Given the description of an element on the screen output the (x, y) to click on. 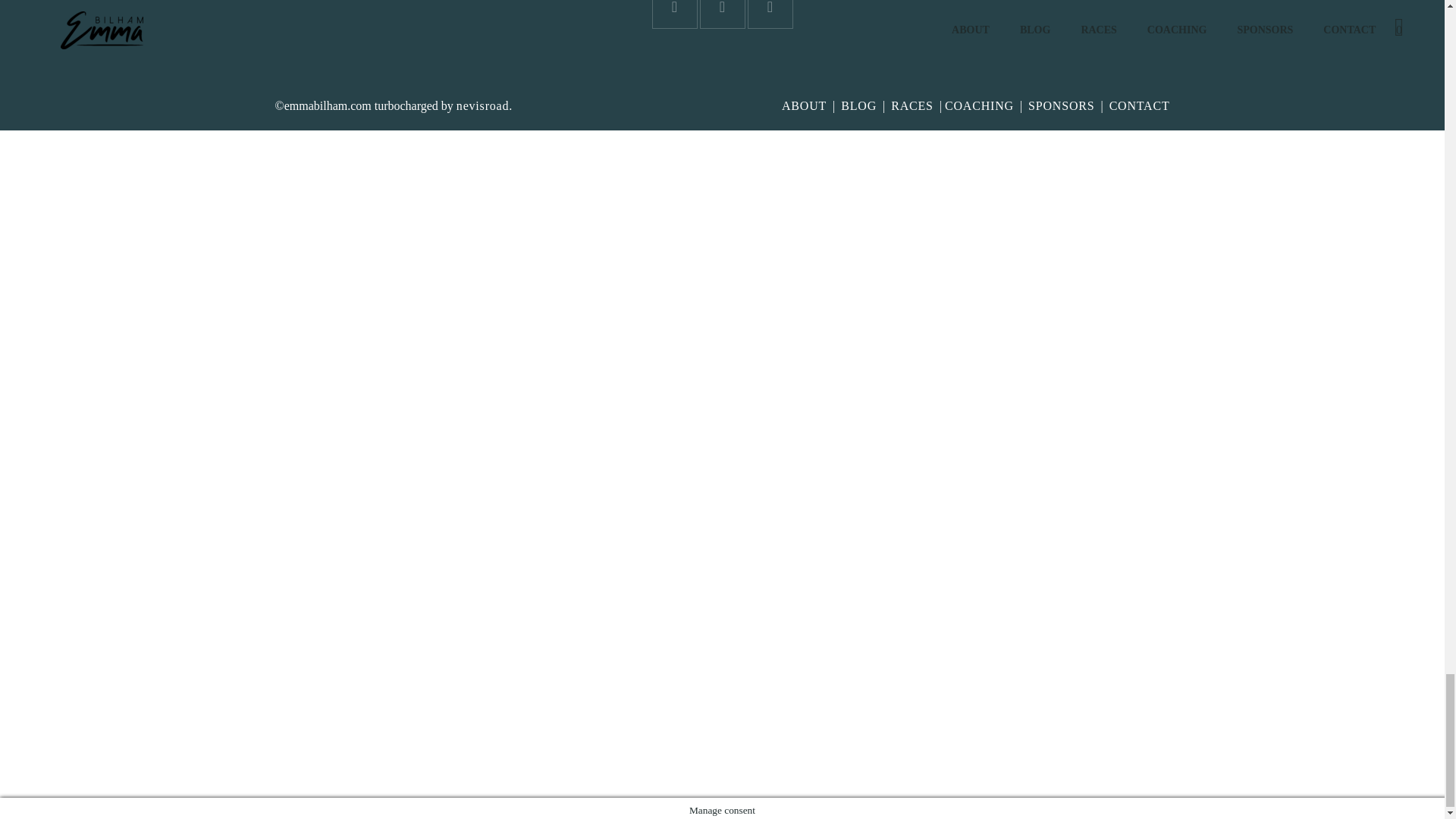
RACES (912, 105)
BLOG (858, 105)
COACHING (978, 105)
ABOUT (804, 105)
SPONSORS (1060, 105)
nevisroad (482, 105)
